Given the description of an element on the screen output the (x, y) to click on. 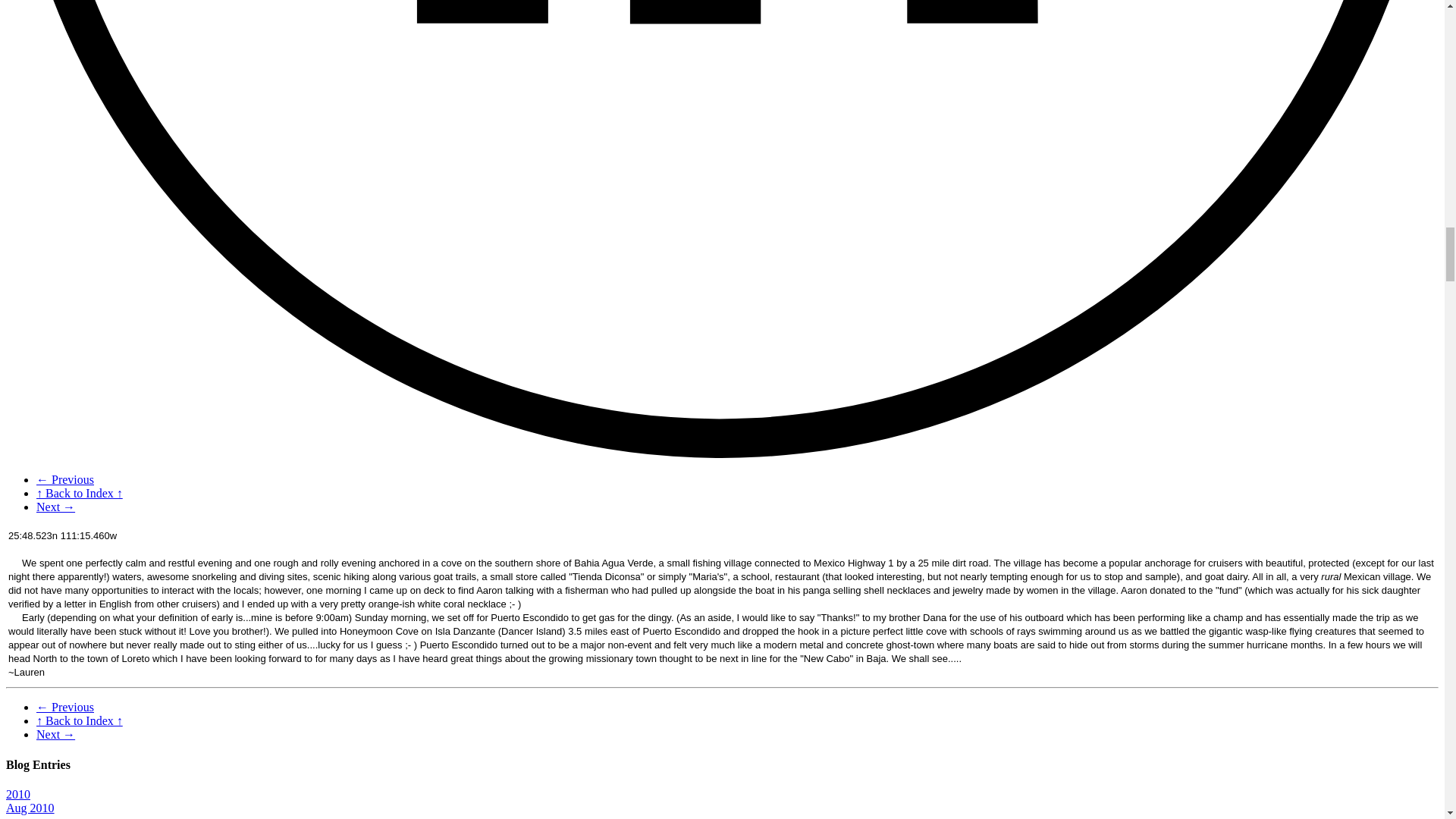
2010 (17, 793)
Aug 2010 (30, 807)
